Given the description of an element on the screen output the (x, y) to click on. 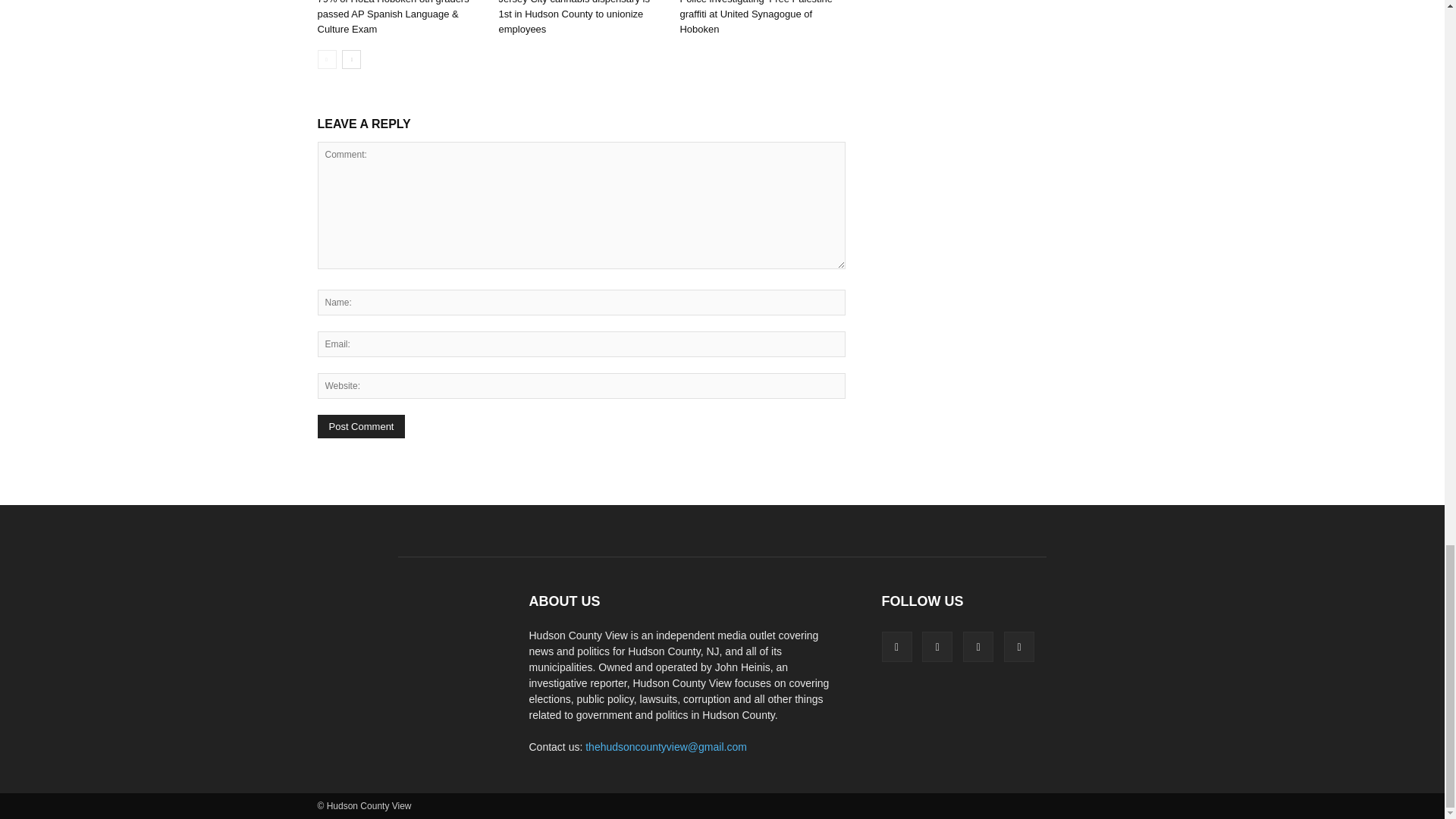
Post Comment (360, 426)
